Given the description of an element on the screen output the (x, y) to click on. 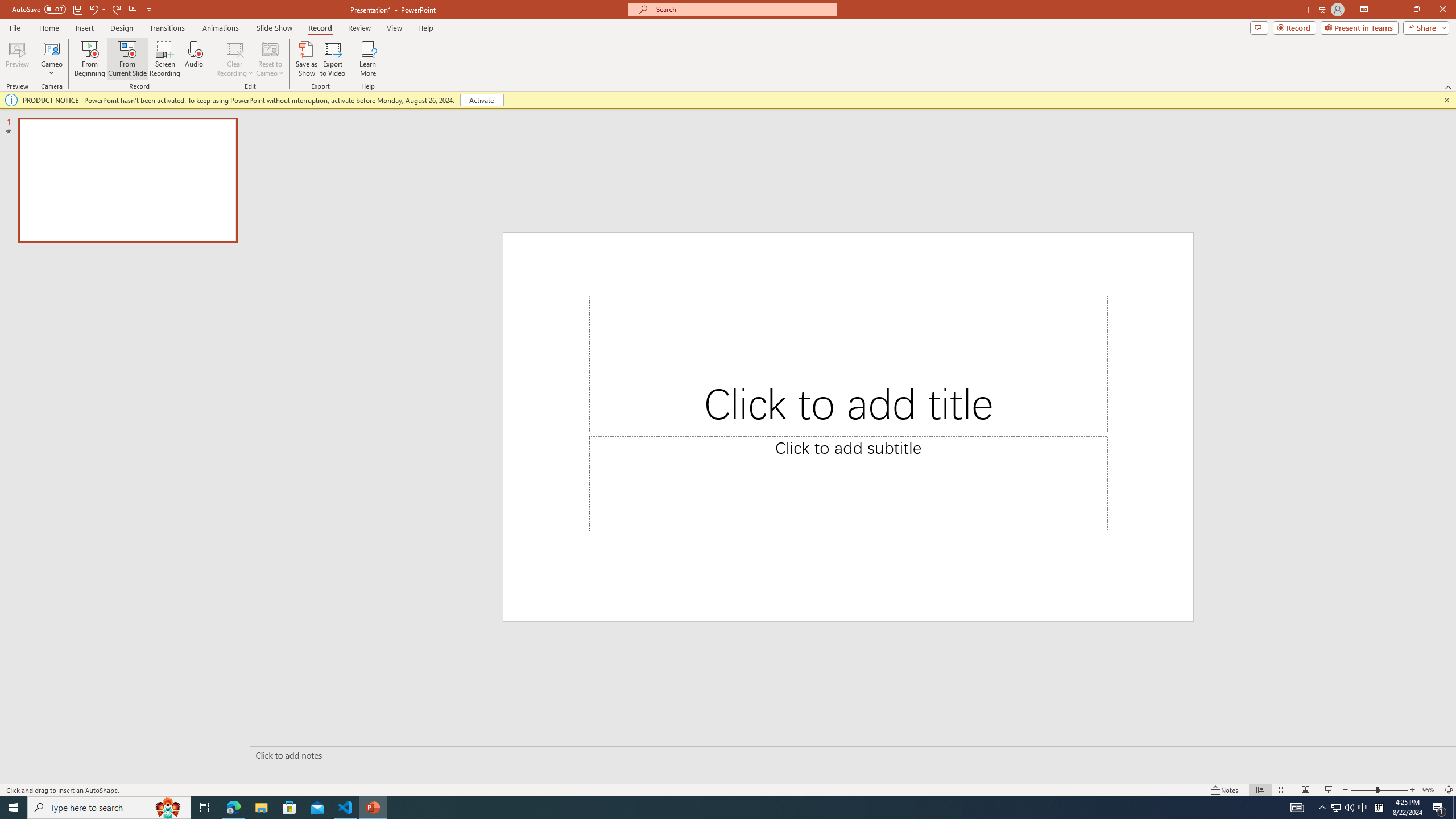
Reset to Cameo (269, 58)
Zoom 95% (1430, 790)
Screen Recording (165, 58)
Clear Recording (234, 58)
Close this message (1446, 99)
